Given the description of an element on the screen output the (x, y) to click on. 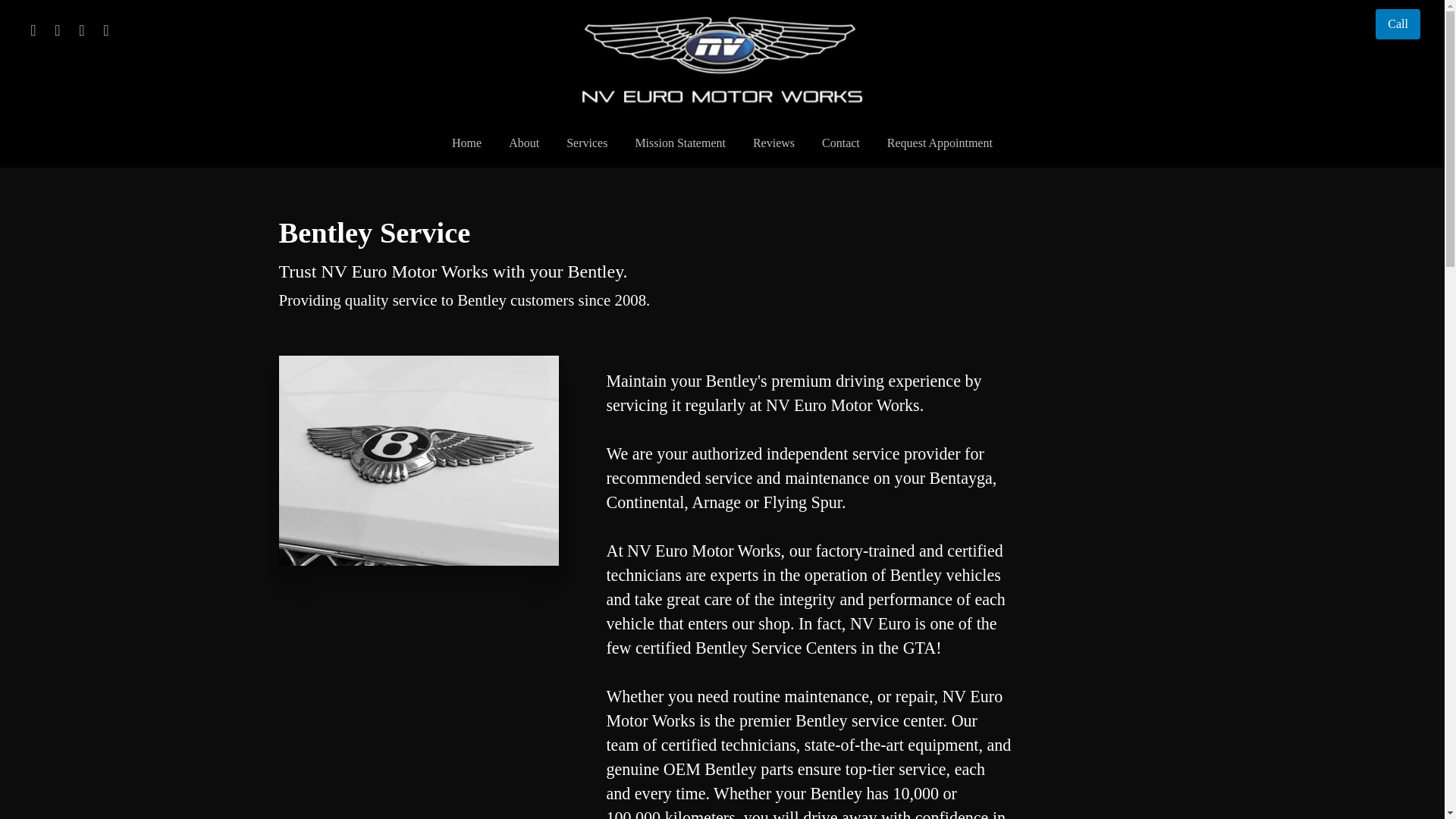
Call (1398, 24)
Mission Statement (680, 142)
Home (466, 142)
Contact (840, 142)
About (523, 142)
Request Appointment (939, 142)
Services (587, 142)
Reviews (773, 142)
